Given the description of an element on the screen output the (x, y) to click on. 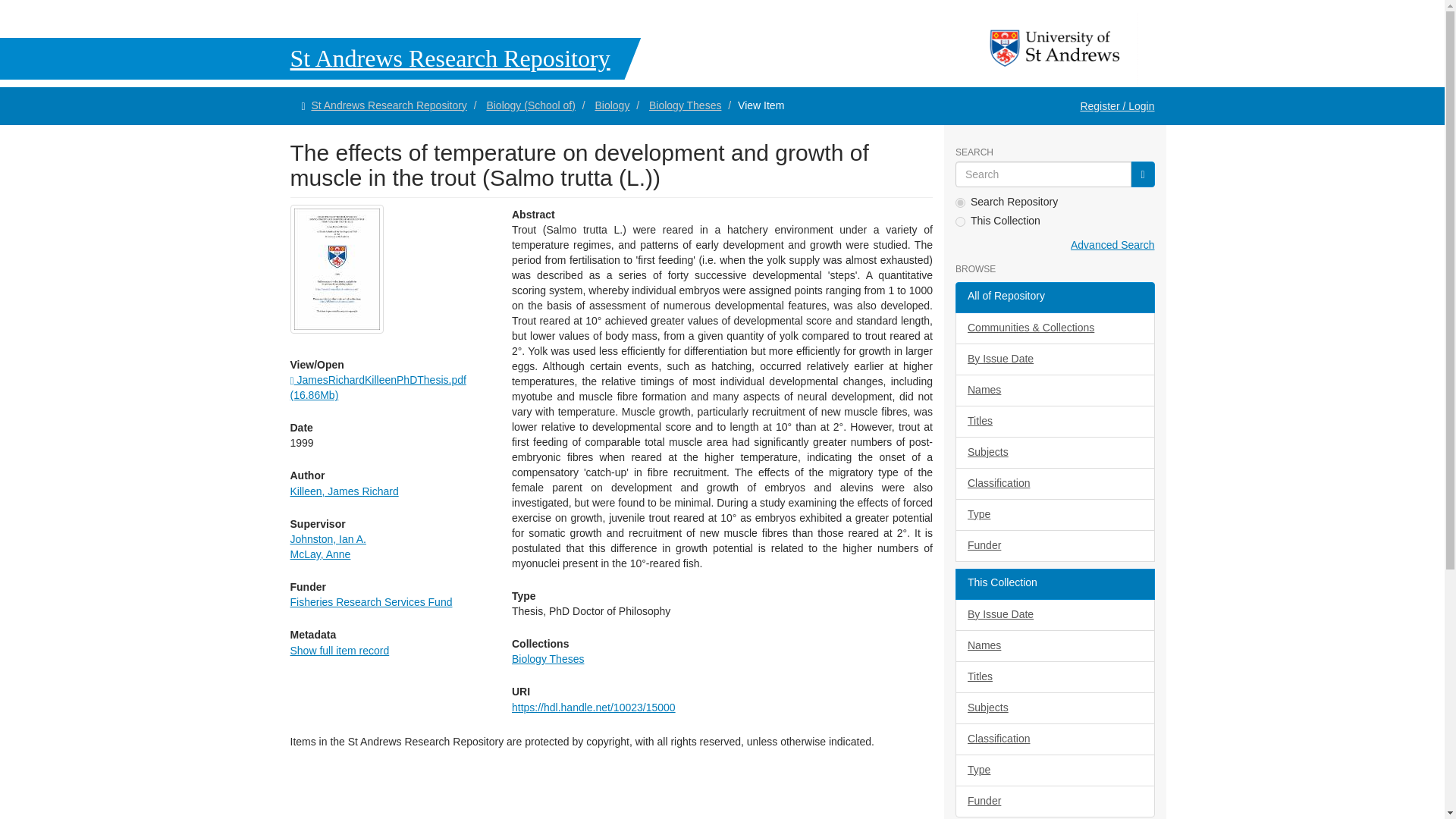
Type (1054, 514)
By Issue Date (1054, 614)
Go (1142, 174)
By Issue Date (1054, 359)
Names (1054, 390)
Killeen, James Richard (343, 491)
Funder (1054, 545)
Fisheries Research Services Fund (370, 602)
Biology (611, 105)
Advanced Search (1112, 244)
